Given the description of an element on the screen output the (x, y) to click on. 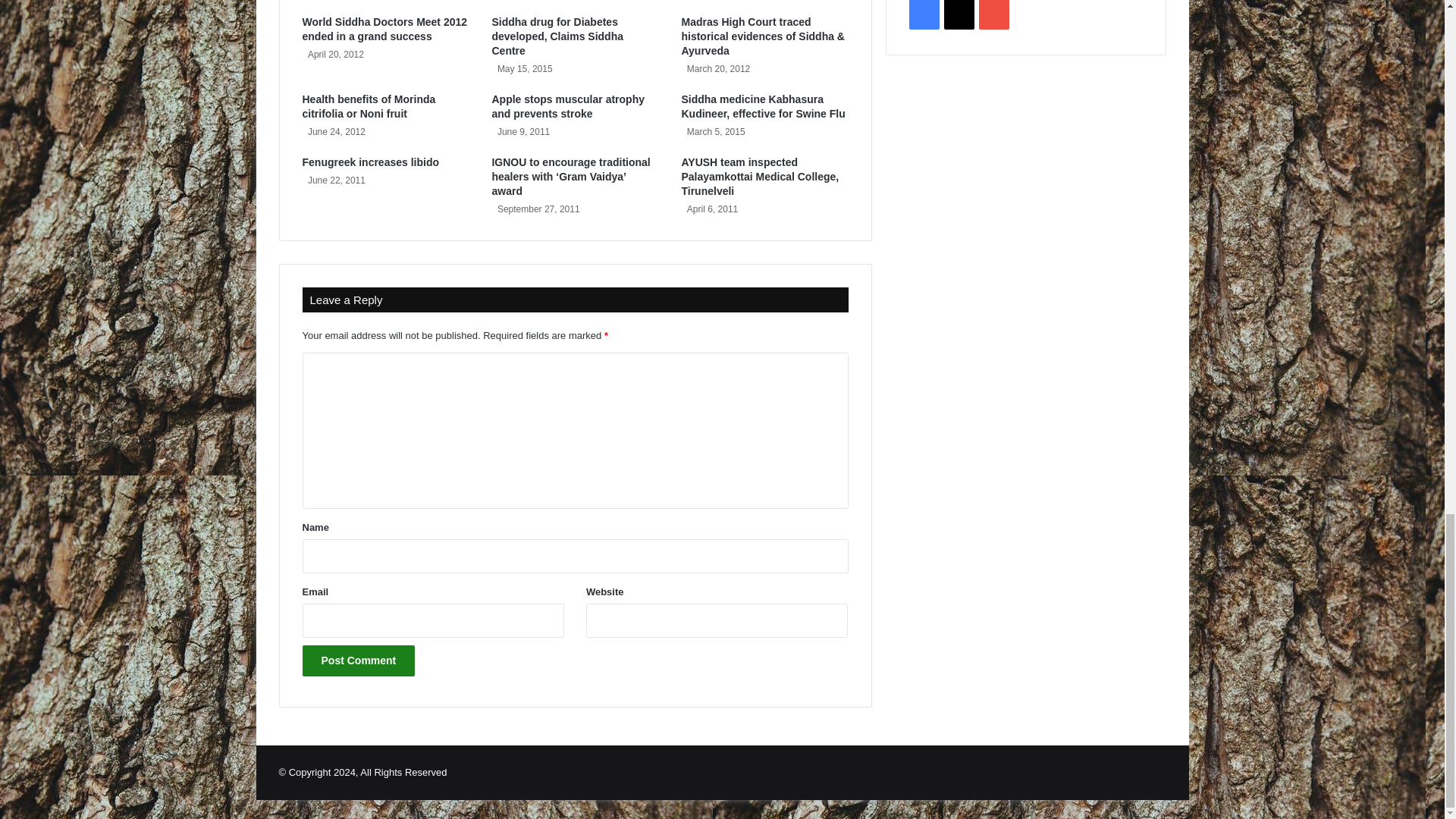
Post Comment (357, 660)
